Given the description of an element on the screen output the (x, y) to click on. 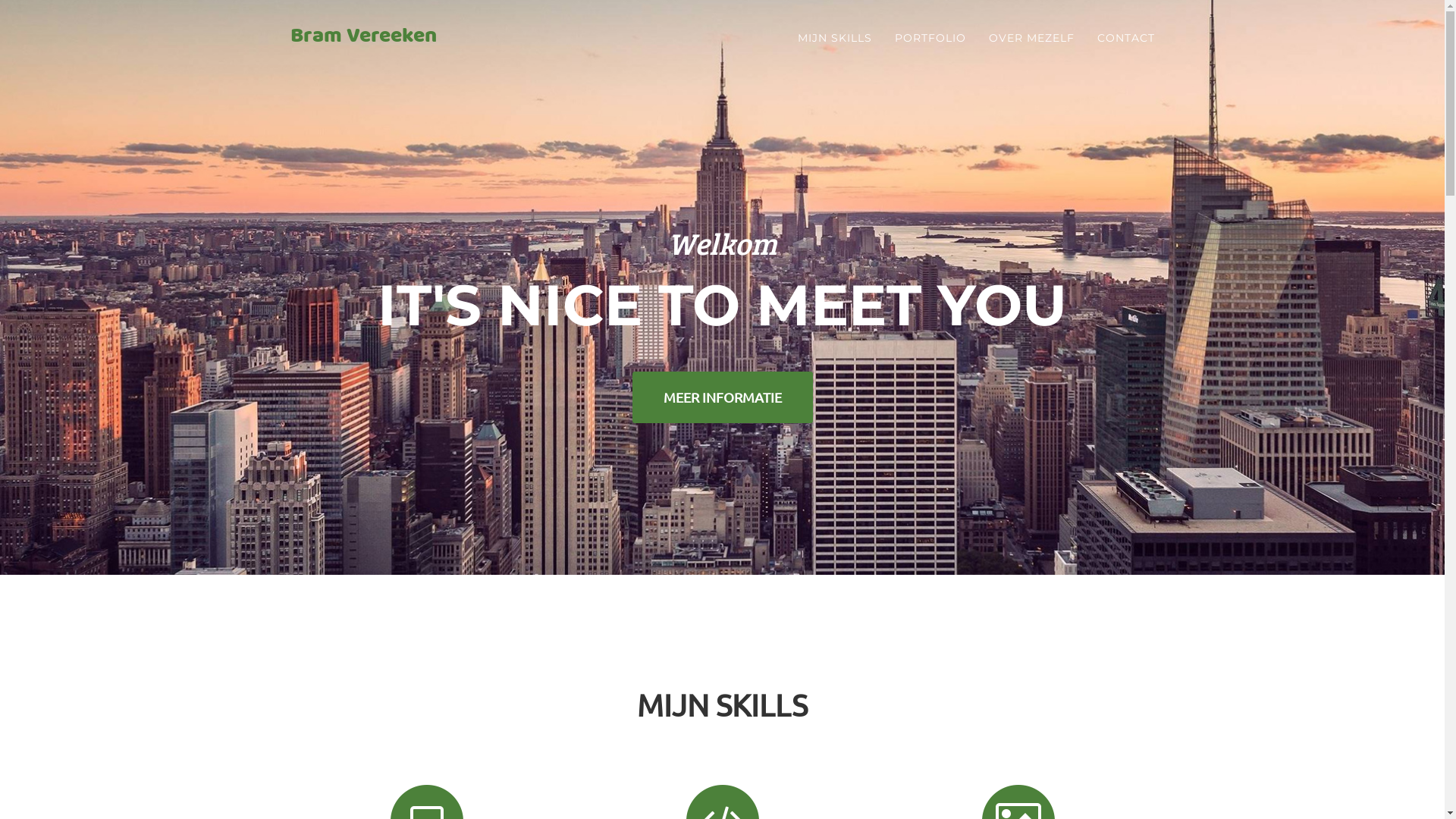
PORTFOLIO Element type: text (929, 37)
MEER INFORMATIE Element type: text (722, 397)
Bram Vereeken Element type: text (363, 37)
OVER MEZELF Element type: text (1030, 37)
CONTACT Element type: text (1125, 37)
MIJN SKILLS Element type: text (833, 37)
